Given the description of an element on the screen output the (x, y) to click on. 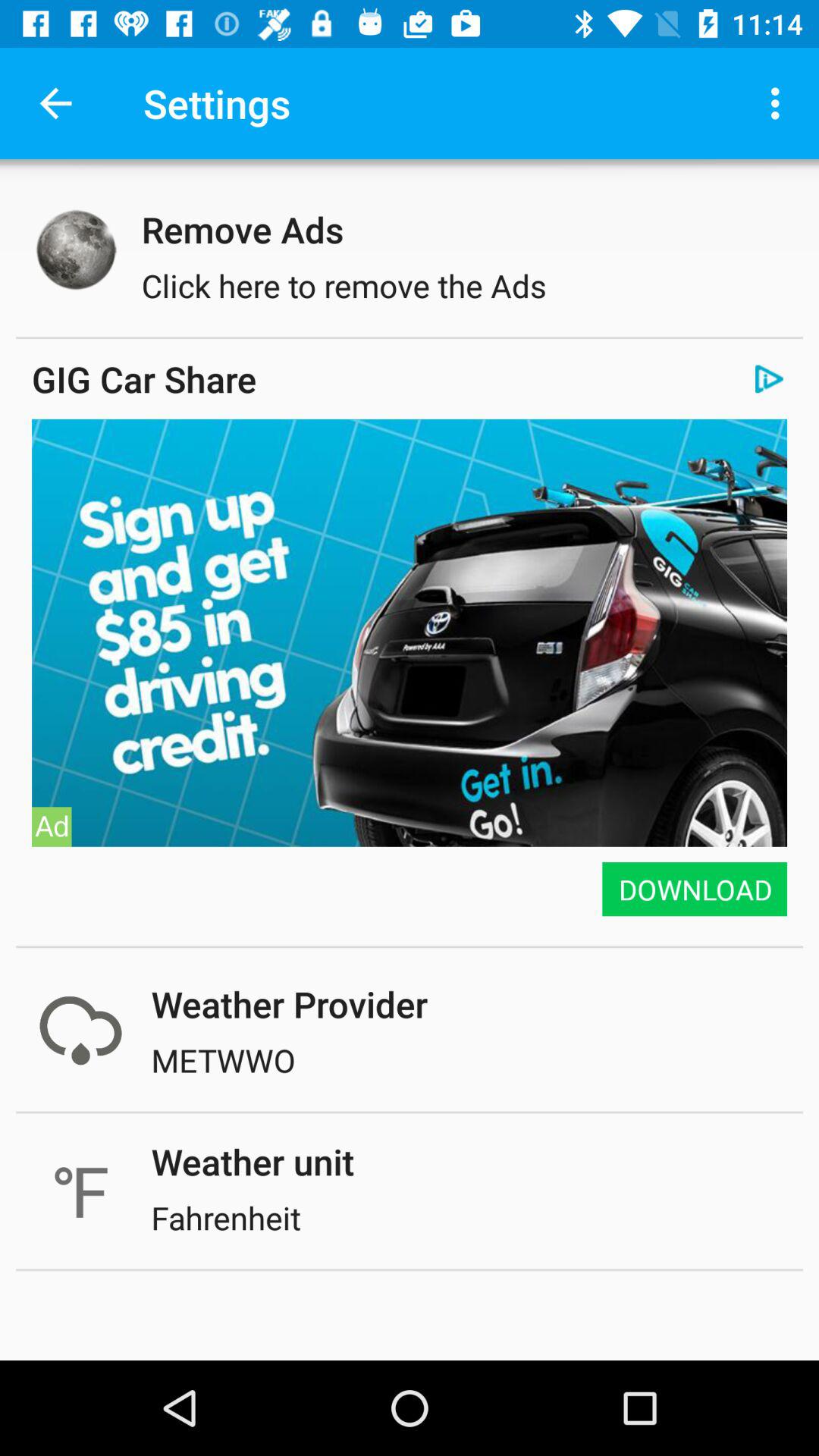
open the icon below the gig car share item (409, 419)
